Given the description of an element on the screen output the (x, y) to click on. 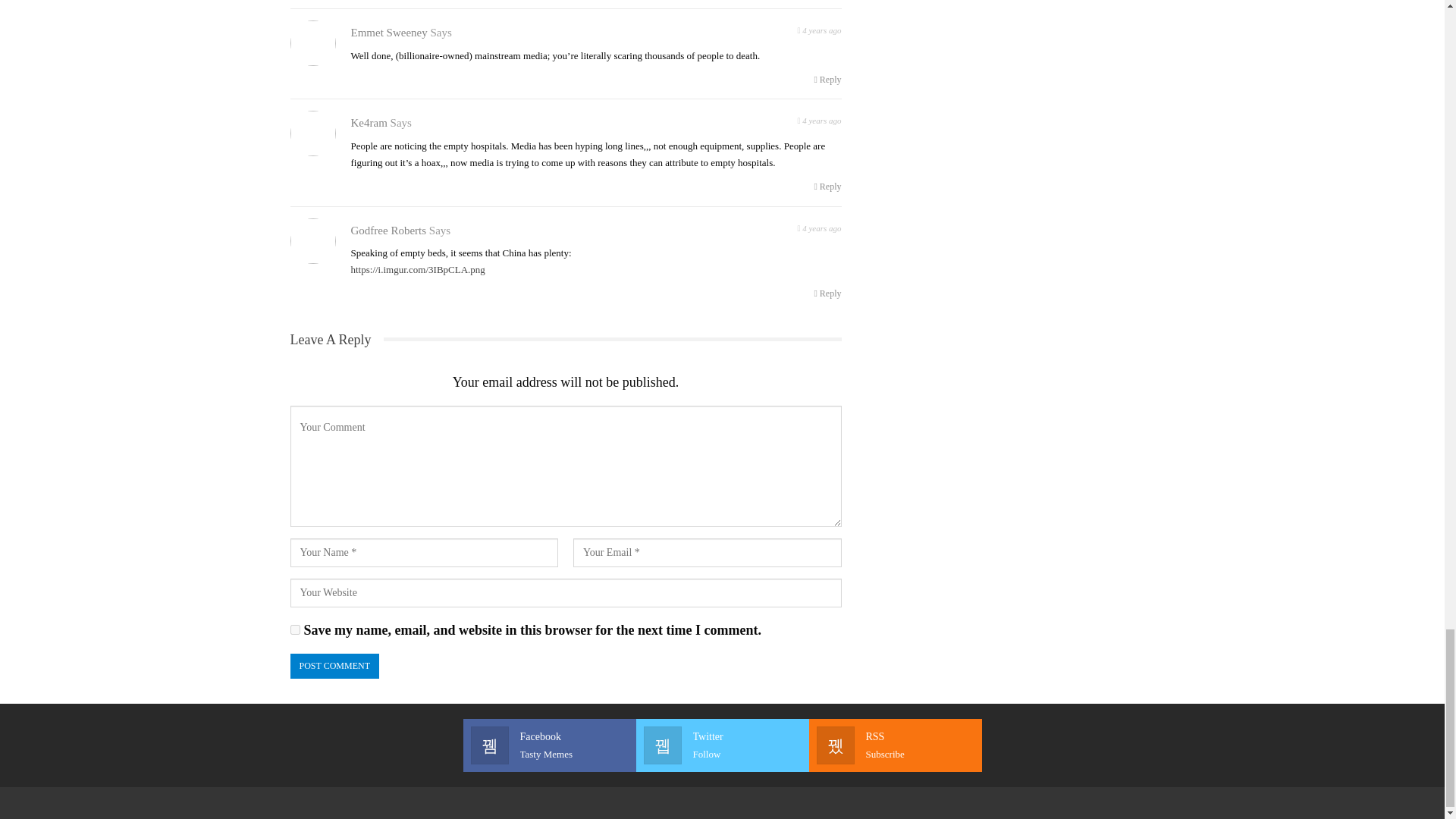
Post Comment (333, 665)
Sunday, December 27, 2020, 5:55 pm (818, 28)
Reply (827, 186)
yes (294, 629)
Reply (827, 79)
Reply (721, 745)
Sunday, December 27, 2020, 5:55 pm (894, 745)
